Given the description of an element on the screen output the (x, y) to click on. 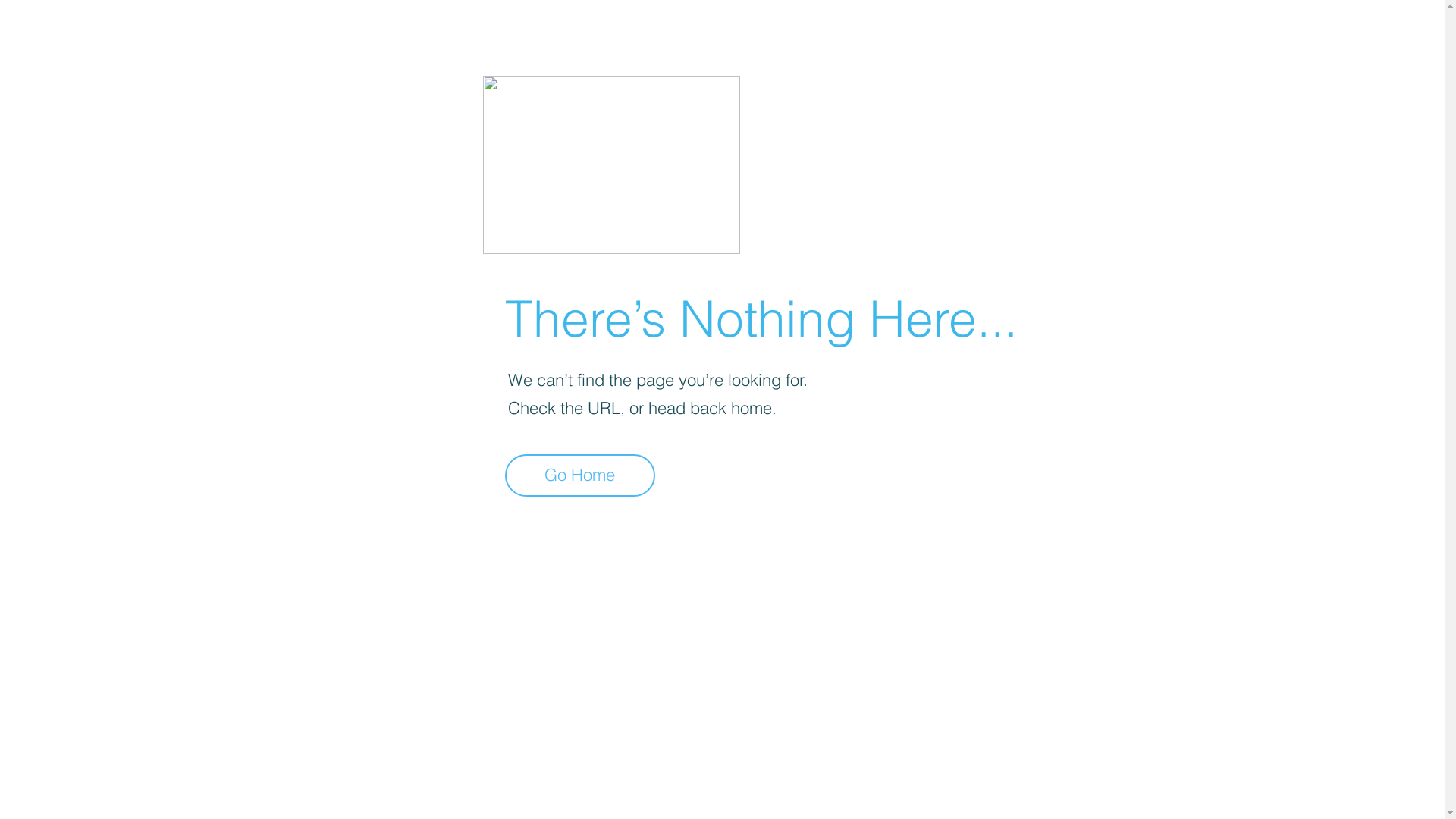
404-icon_2.png Element type: hover (610, 164)
Go Home Element type: text (580, 475)
